Given the description of an element on the screen output the (x, y) to click on. 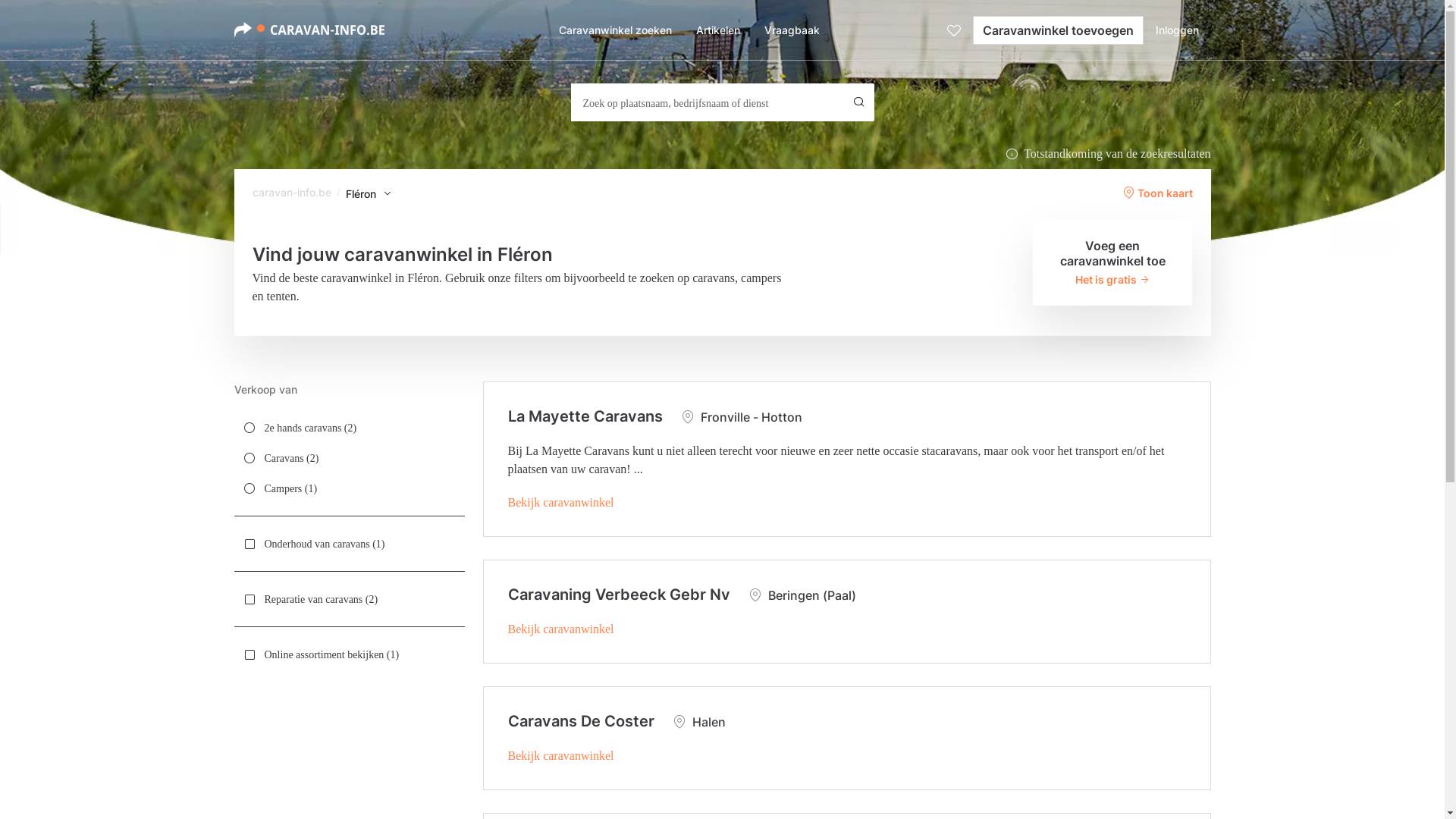
Caravans (2) Element type: text (348, 457)
Caravans De Coster Element type: text (581, 721)
caravan-info.be Element type: text (290, 191)
Caravanwinkel toevoegen Element type: text (1057, 29)
Onderhoud van caravans (1) Element type: text (348, 543)
Toon kaart Element type: text (1157, 192)
Artikelen Element type: text (718, 29)
Bekijk caravanwinkel Element type: text (561, 628)
Reparatie van caravans (2) Element type: text (348, 598)
Bekijk caravanwinkel Element type: text (561, 501)
2e hands caravans (2) Element type: text (348, 427)
La Mayette Caravans Element type: text (585, 416)
Bekijk caravanwinkel Element type: text (561, 755)
Het is gratis Element type: text (1112, 279)
Caravanwinkel zoeken Element type: text (614, 29)
Totstandkoming van de zoekresultaten Element type: text (1107, 153)
Vraagbaak Element type: text (791, 29)
Inloggen Element type: text (1177, 29)
Campers (1) Element type: text (348, 488)
Online assortiment bekijken (1) Element type: text (348, 654)
Caravaning Verbeeck Gebr Nv Element type: text (619, 594)
